Given the description of an element on the screen output the (x, y) to click on. 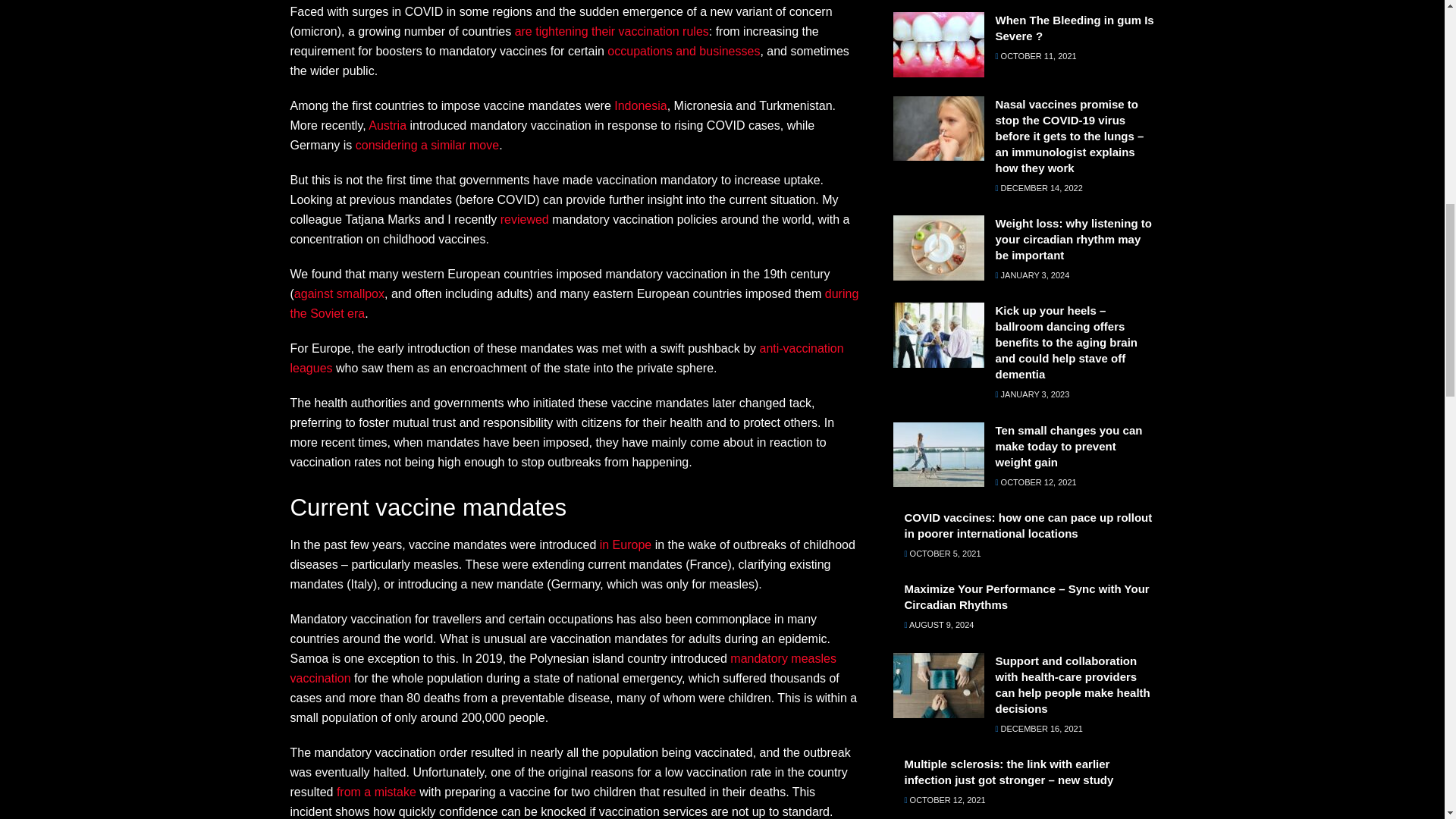
considering a similar move (427, 144)
Austria (387, 124)
reviewed (524, 219)
Indonesia (640, 105)
occupations and businesses (683, 51)
are tightening their vaccination rules (612, 31)
against smallpox (339, 293)
